Given the description of an element on the screen output the (x, y) to click on. 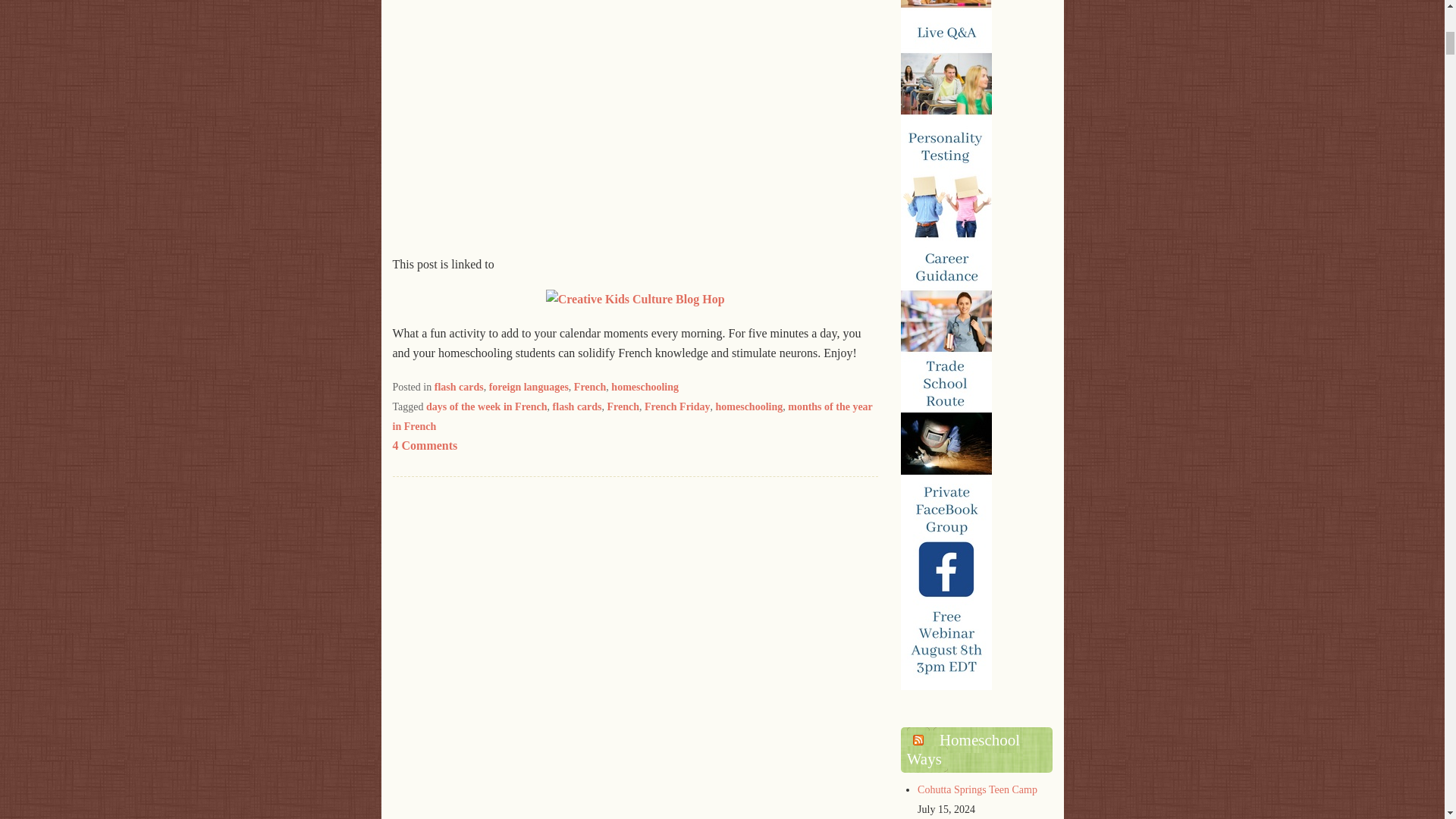
Creative Kids Culture Blog Hop (635, 298)
